Given the description of an element on the screen output the (x, y) to click on. 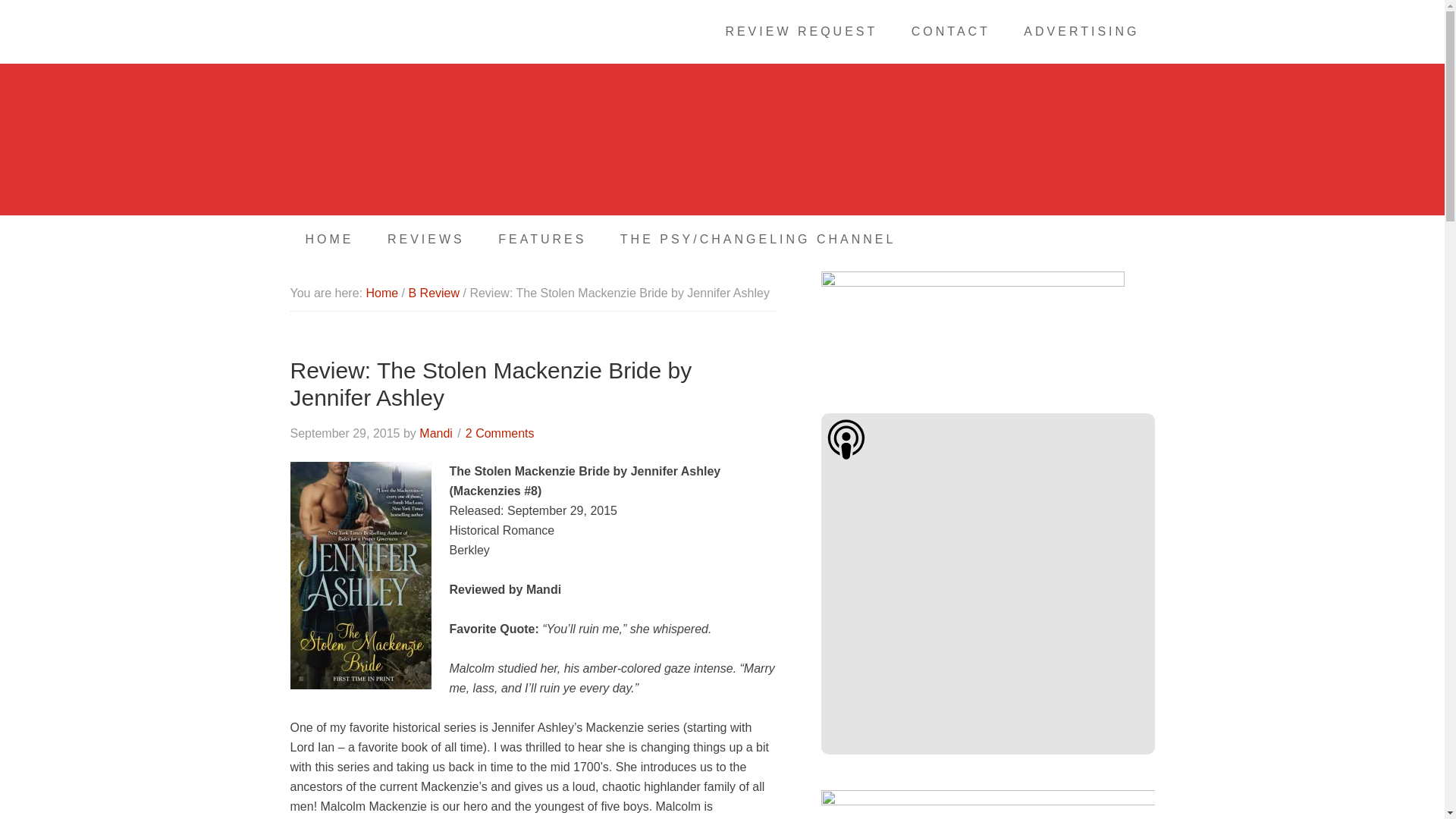
CONTACT (951, 31)
FEATURES (542, 239)
HOME (328, 239)
REVIEW REQUEST (801, 31)
ADVERTISING (1081, 31)
REVIEWS (426, 239)
